Given the description of an element on the screen output the (x, y) to click on. 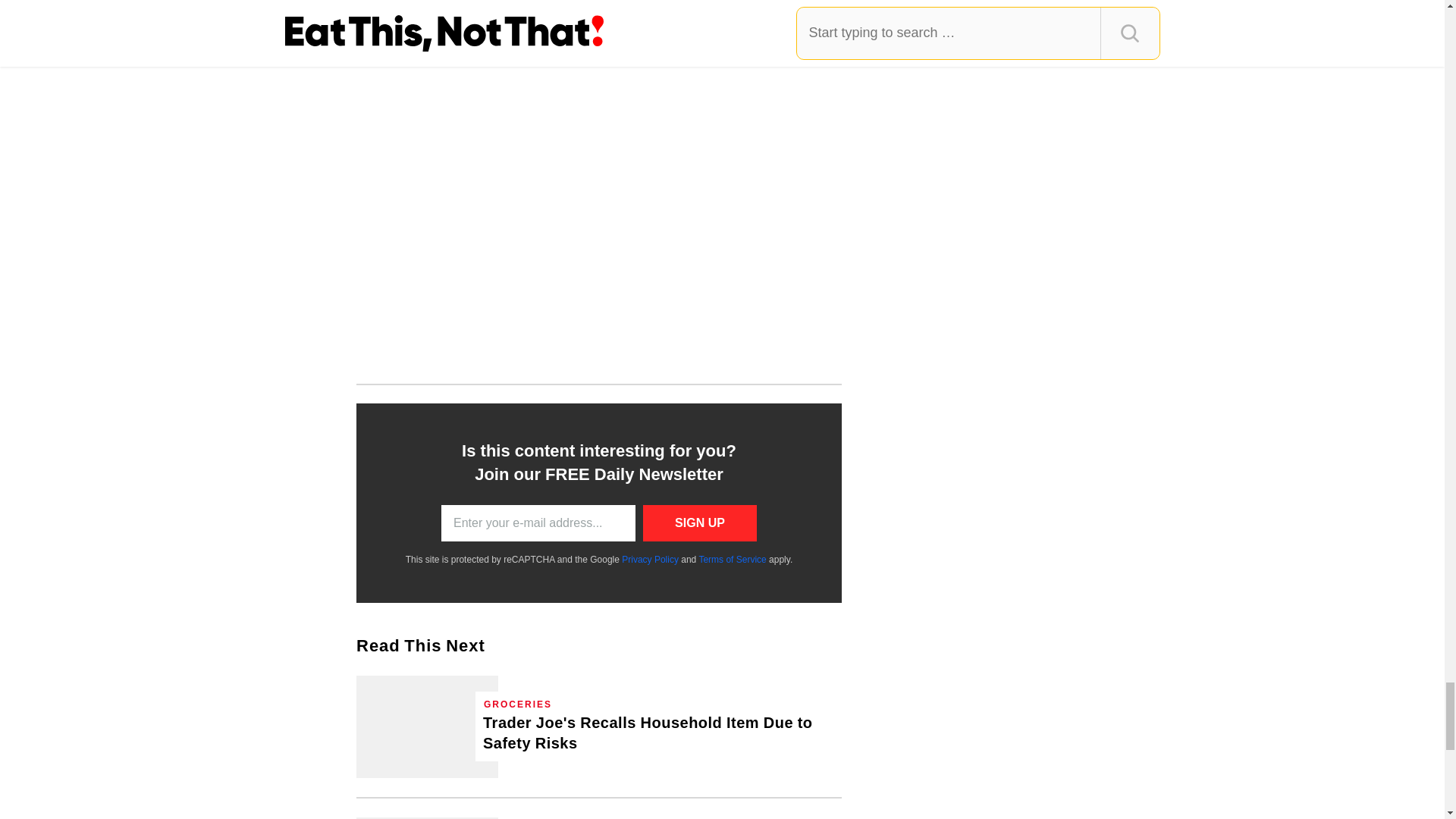
9 Kirkland Items at Costco You Should Avoid In 2024 (426, 818)
